Given the description of an element on the screen output the (x, y) to click on. 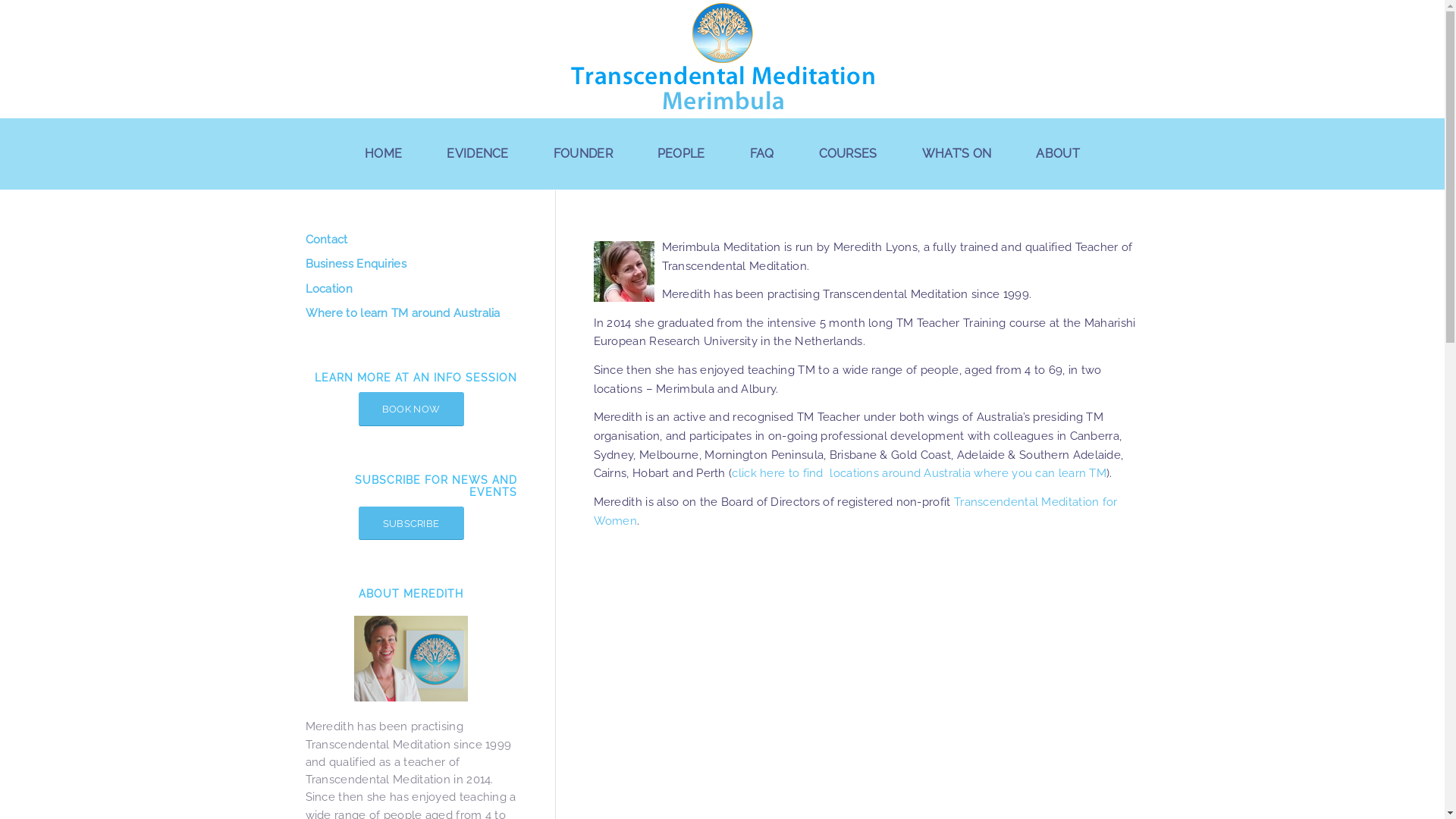
FAQ Element type: text (762, 153)
SUBSCRIBE Element type: text (410, 523)
Where to learn TM around Australia Element type: text (410, 313)
Location Element type: text (410, 289)
Business Enquiries Element type: text (410, 264)
FOUNDER Element type: text (583, 153)
BOOK NOW Element type: text (410, 409)
Contact Element type: text (410, 240)
ABOUT Element type: text (1057, 153)
Transcendental Meditation for Women Element type: text (855, 511)
PEOPLE Element type: text (681, 153)
COURSES Element type: text (848, 153)
EVIDENCE Element type: text (477, 153)
HOME Element type: text (383, 153)
